Given the description of an element on the screen output the (x, y) to click on. 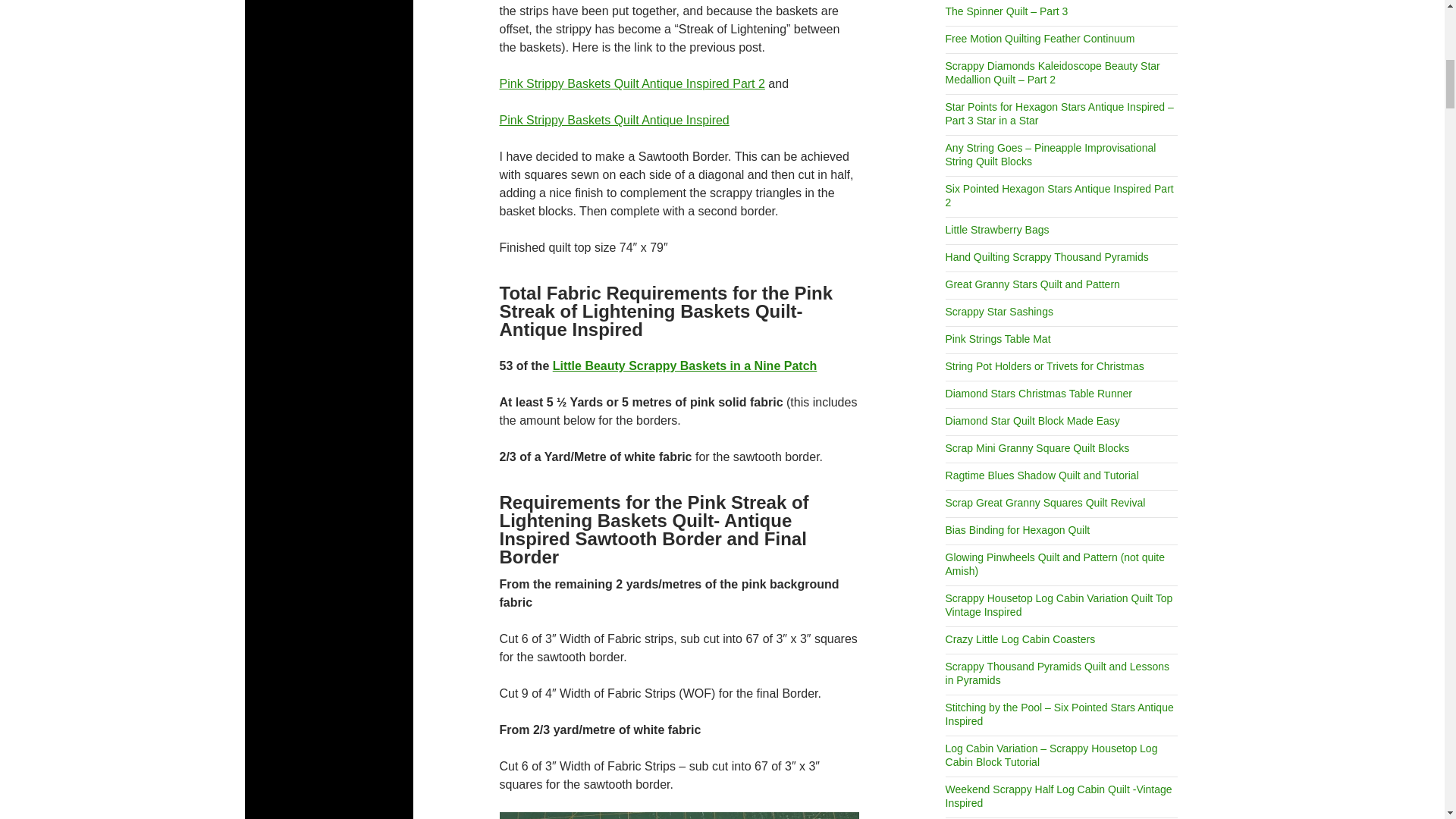
Pink Strippy Baskets Quilt Antique Inspired (614, 119)
Pink Strippy Baskets Quilt Antique Inspired Part 2 (631, 83)
Little Beauty Scrappy Baskets in a Nine Patch (684, 365)
